Given the description of an element on the screen output the (x, y) to click on. 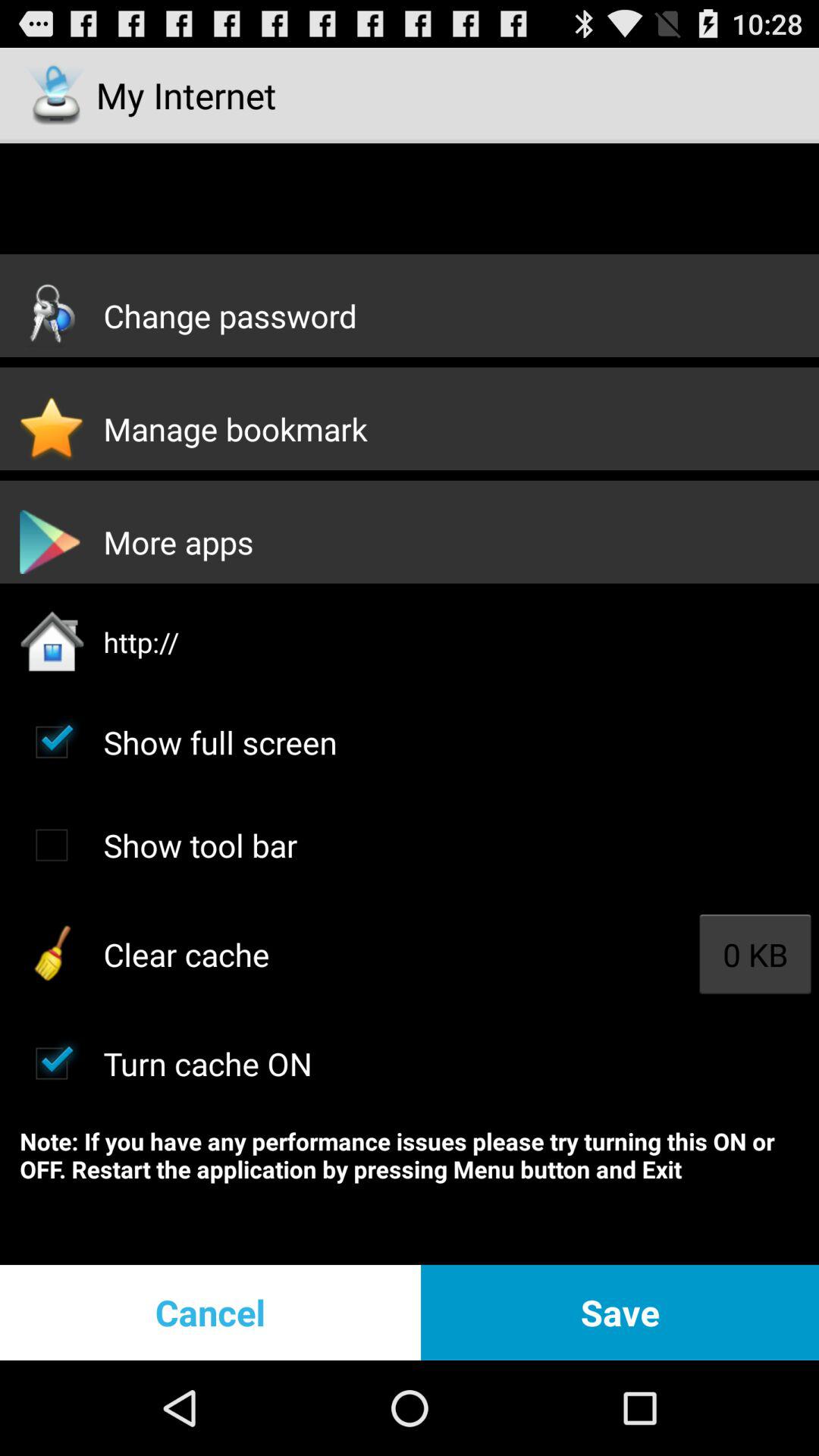
toggle full screen (51, 742)
